Given the description of an element on the screen output the (x, y) to click on. 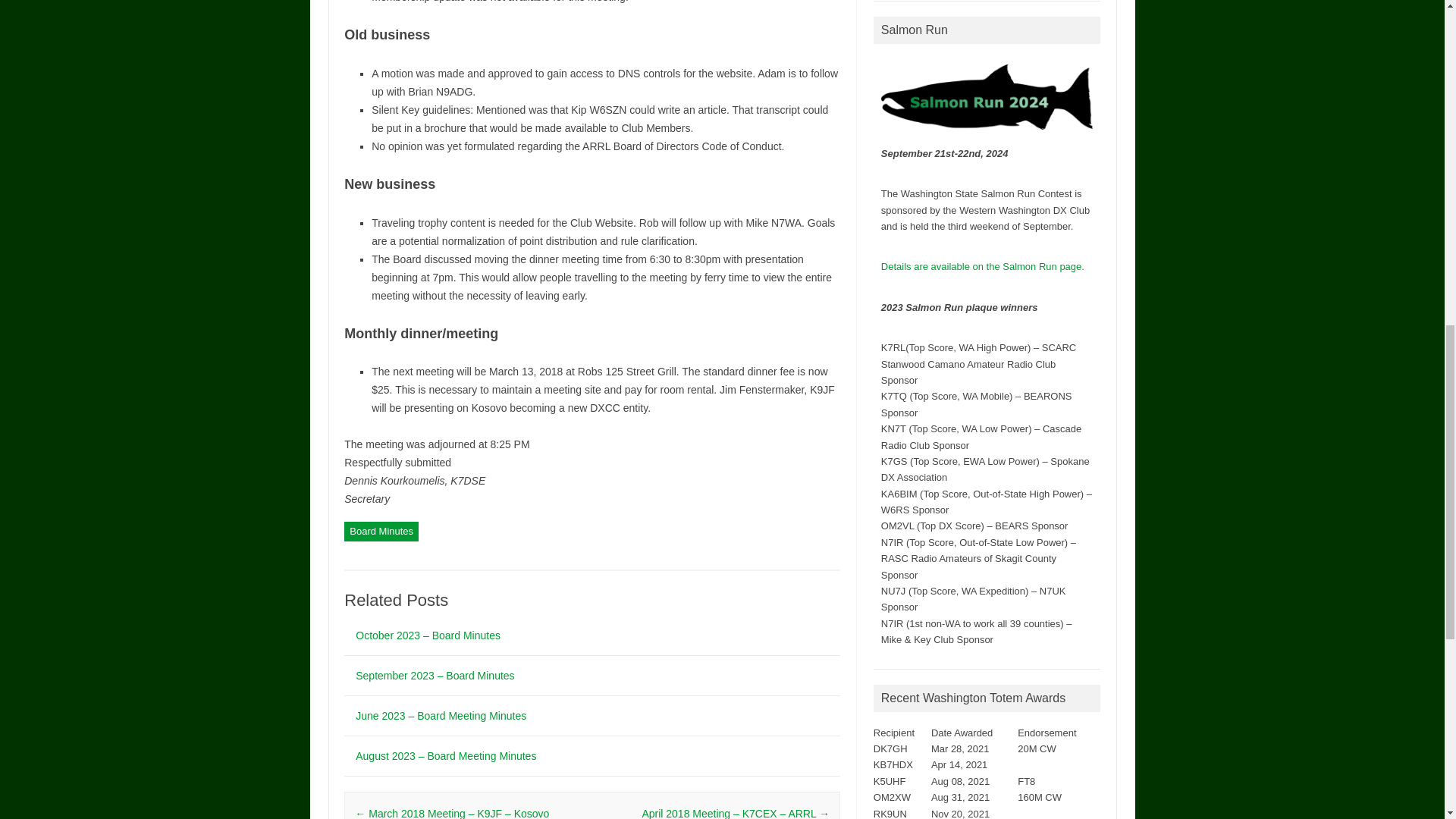
Board Minutes (381, 531)
